Given the description of an element on the screen output the (x, y) to click on. 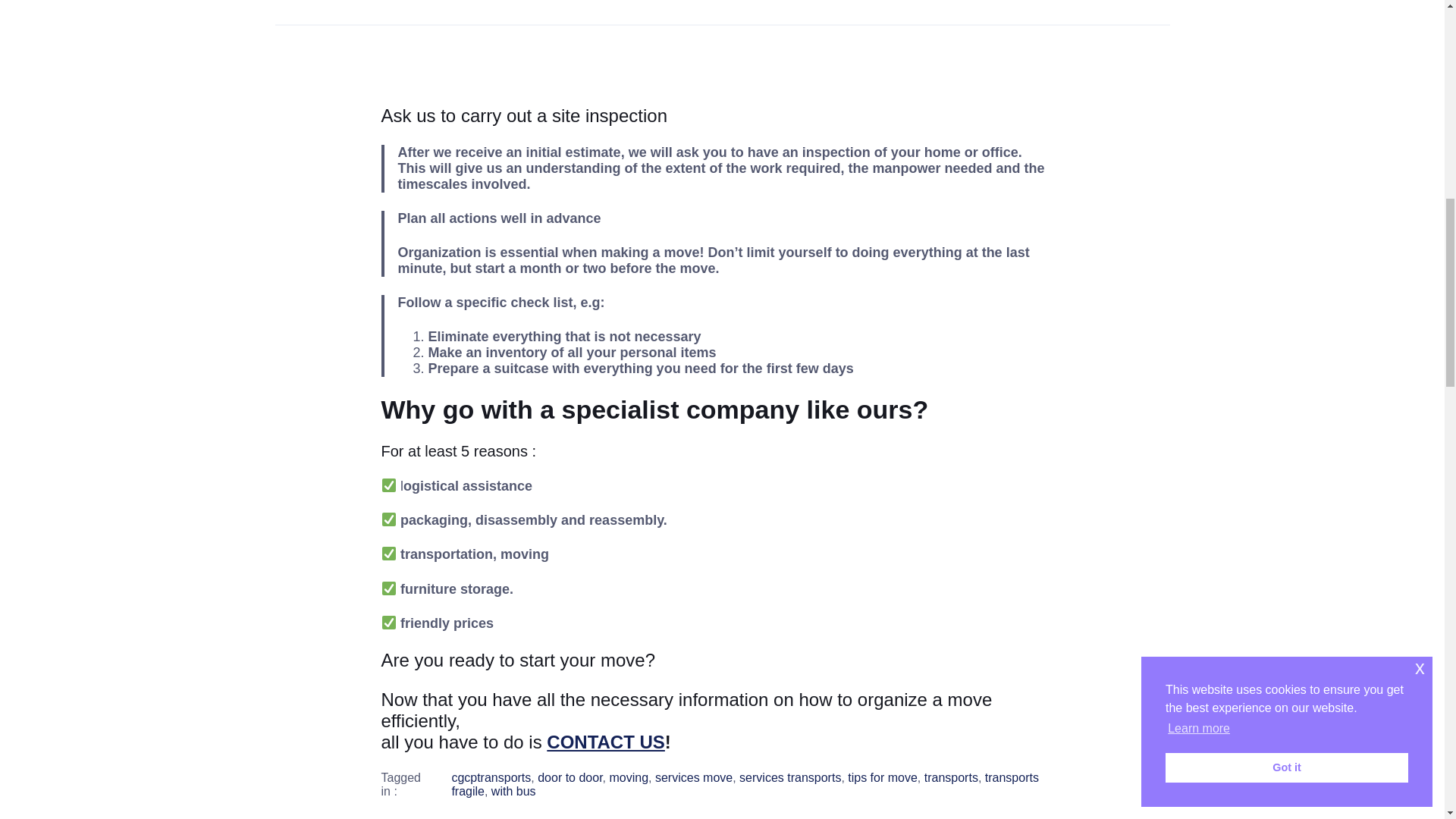
transports (951, 777)
services transports (790, 777)
services move (693, 777)
moving (629, 777)
CONTACT US (606, 742)
cgcptransports (491, 777)
tips for move (882, 777)
door to door (569, 777)
transports fragile (745, 784)
with bus (513, 790)
